Given the description of an element on the screen output the (x, y) to click on. 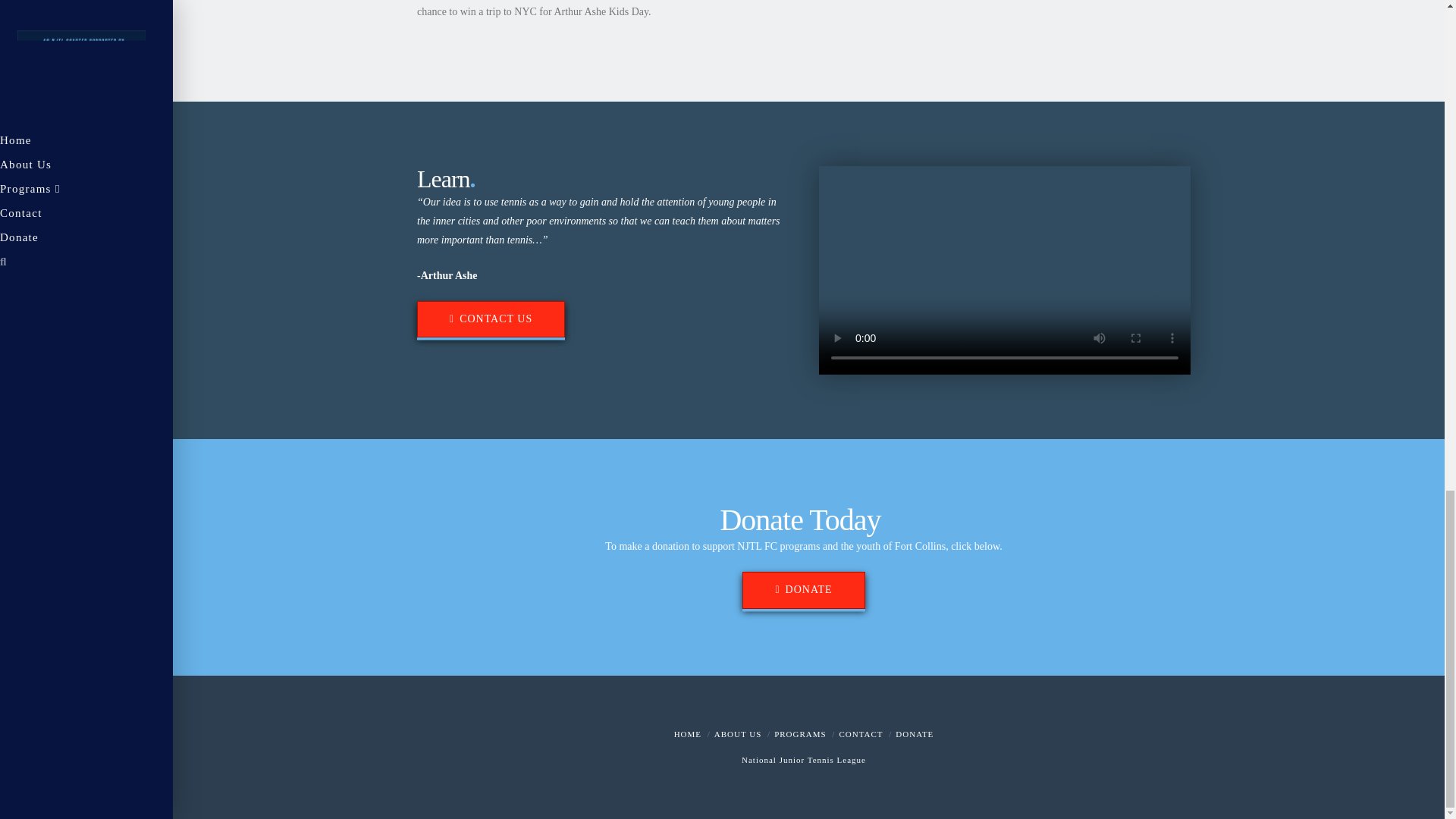
ABOUT US (737, 733)
DONATE (914, 733)
Admissions (800, 733)
Book a Tour (490, 319)
CONTACT (860, 733)
CONTACT US (490, 319)
About (737, 733)
PROGRAMS (800, 733)
HOME (687, 733)
National Junior Tennis League (803, 759)
